Given the description of an element on the screen output the (x, y) to click on. 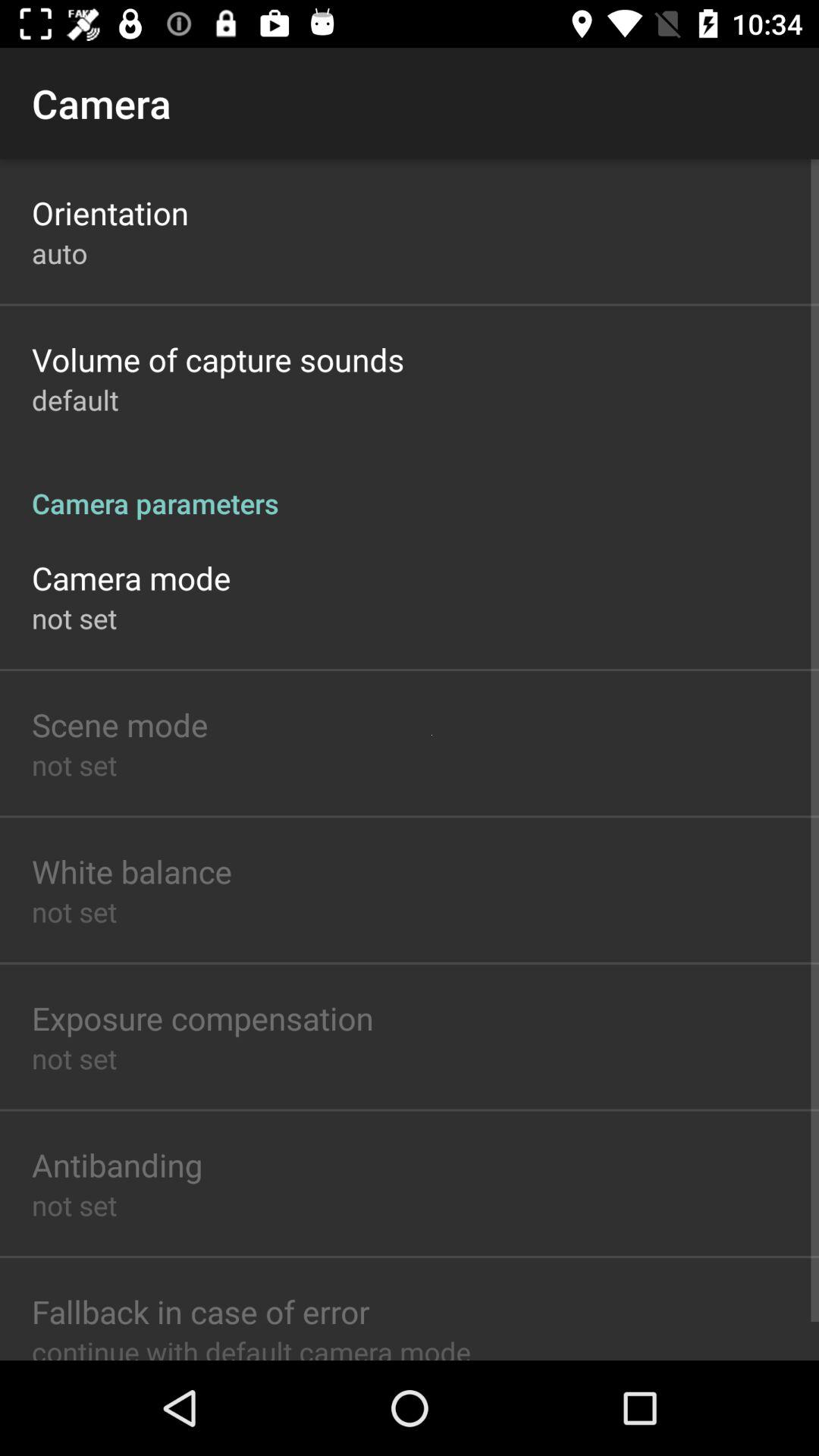
turn on the scene mode (119, 724)
